Given the description of an element on the screen output the (x, y) to click on. 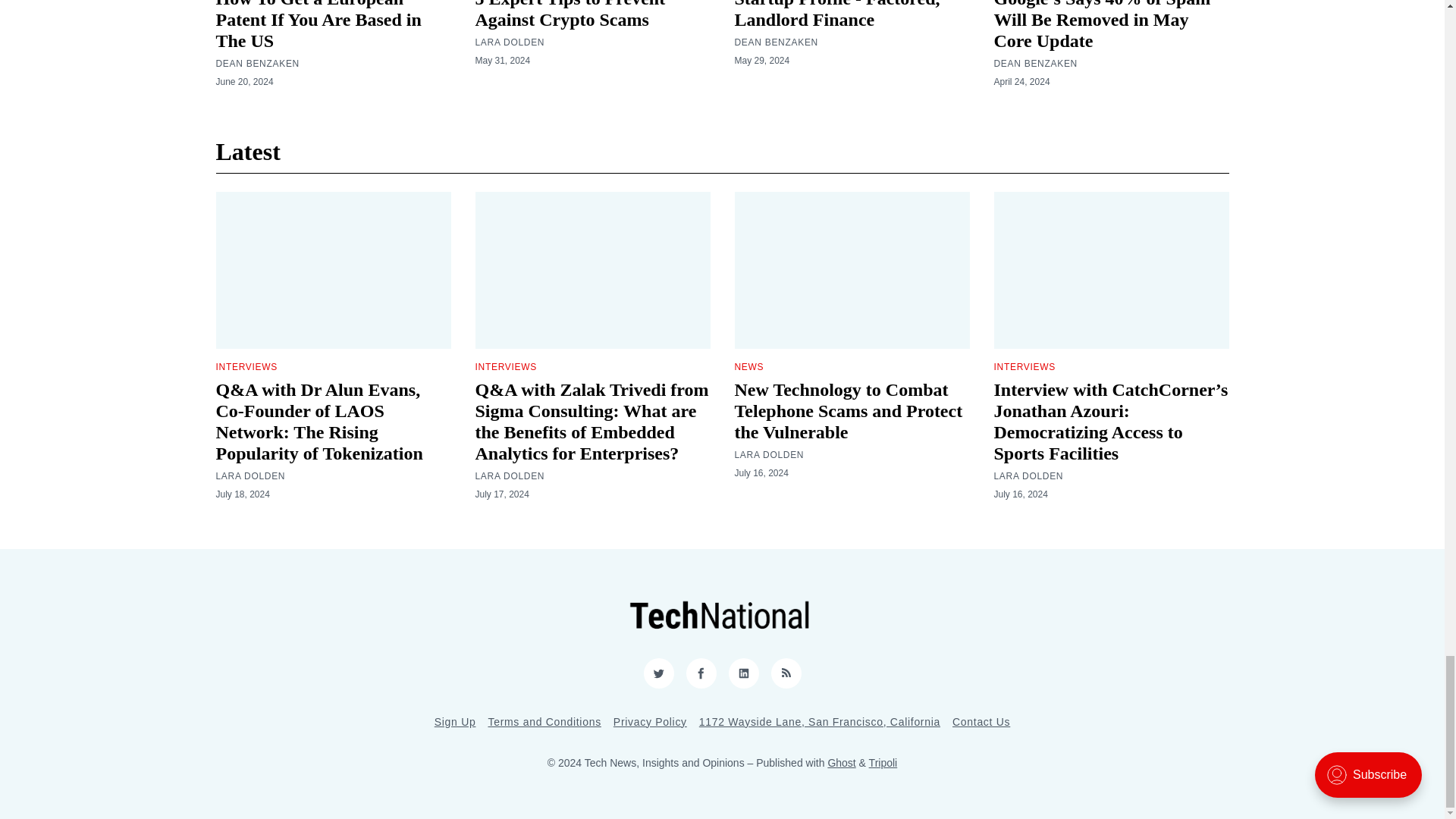
DEAN BENZAKEN (256, 63)
How To Get a European Patent If You Are Based in The US (317, 25)
Startup Profile - Factored, Landlord Finance (836, 14)
LARA DOLDEN (509, 42)
DEAN BENZAKEN (1034, 63)
DEAN BENZAKEN (774, 42)
5 Expert Tips to Prevent Against Crypto Scams (569, 14)
